Given the description of an element on the screen output the (x, y) to click on. 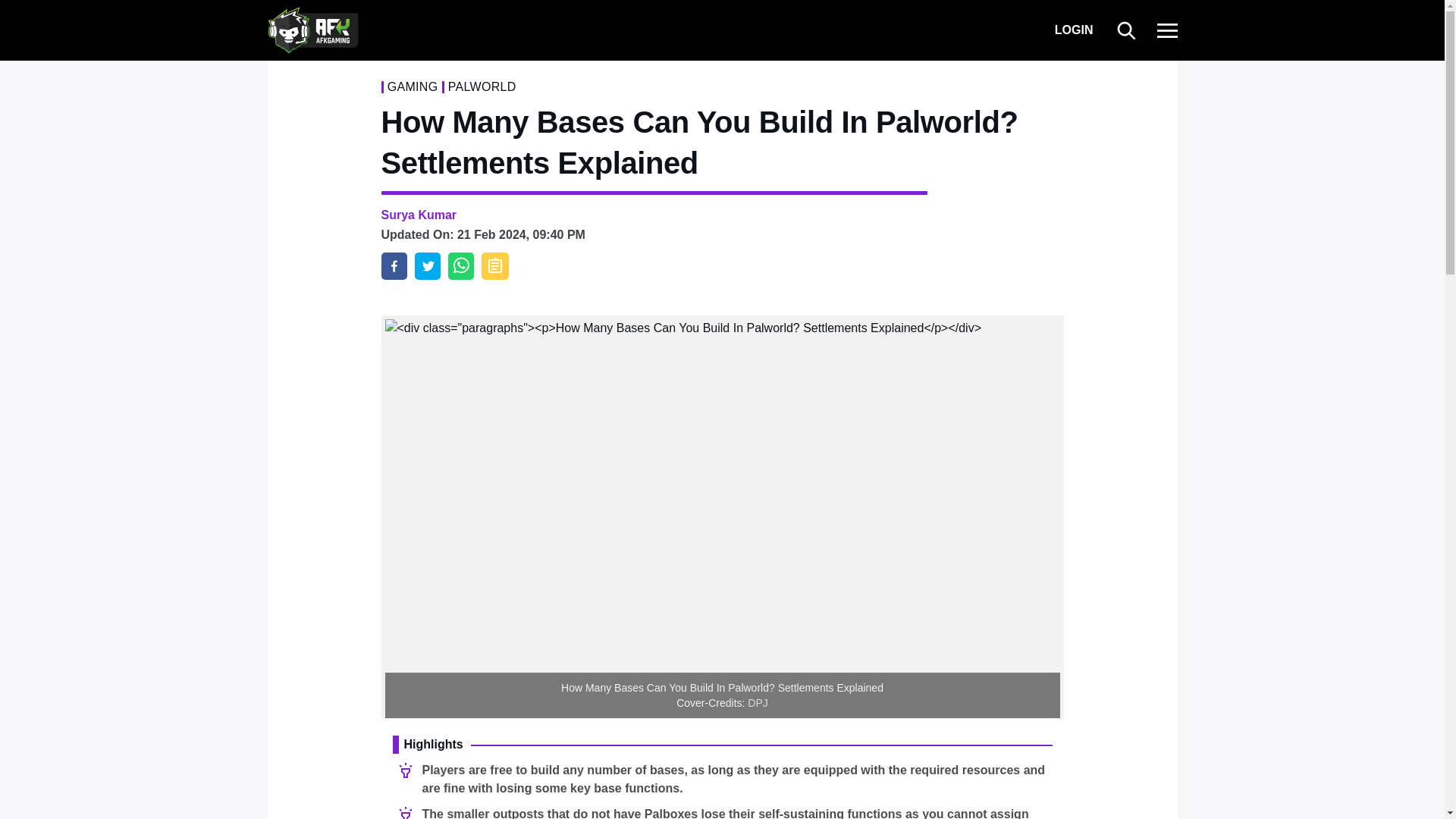
GAMING (412, 87)
DPJ (757, 702)
PALWORLD (482, 87)
Surya Kumar (418, 214)
